Given the description of an element on the screen output the (x, y) to click on. 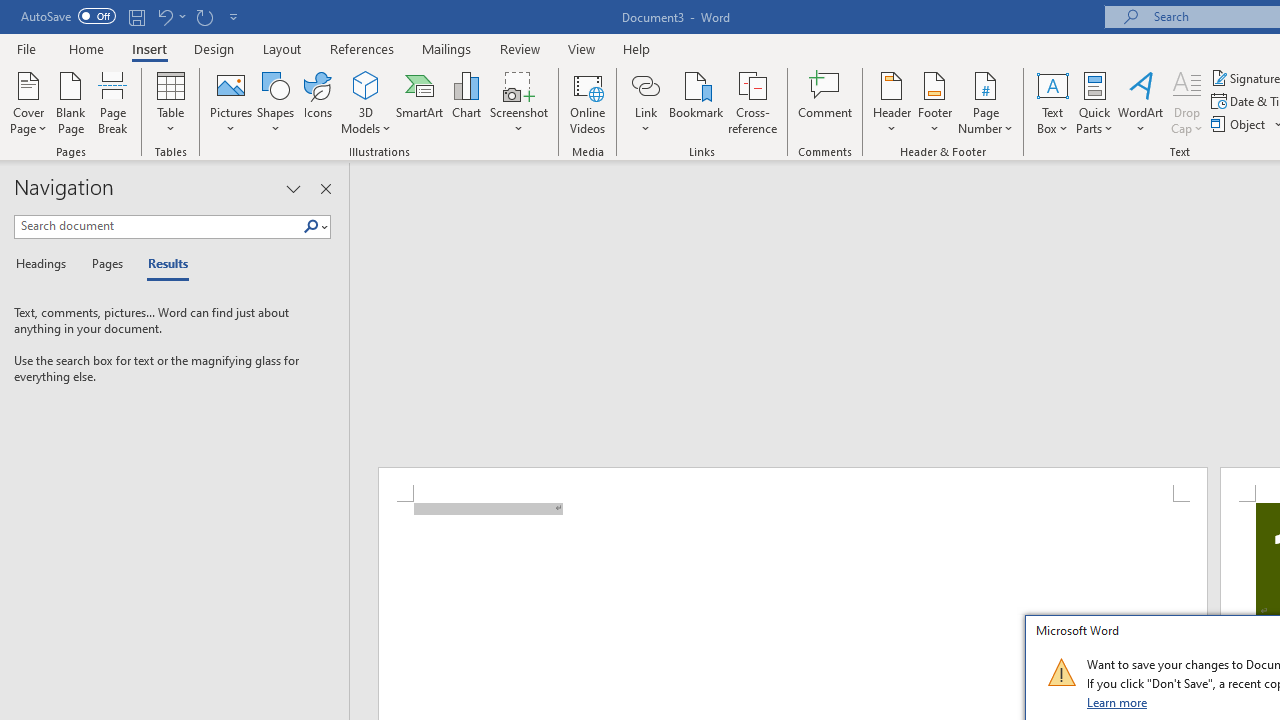
Bookmark... (695, 102)
Online Videos... (588, 102)
Search (315, 227)
Chart... (466, 102)
Table (170, 102)
Search (311, 227)
Save (136, 15)
Drop Cap (1187, 102)
Header (891, 102)
Screenshot (518, 102)
Pages (105, 264)
